Given the description of an element on the screen output the (x, y) to click on. 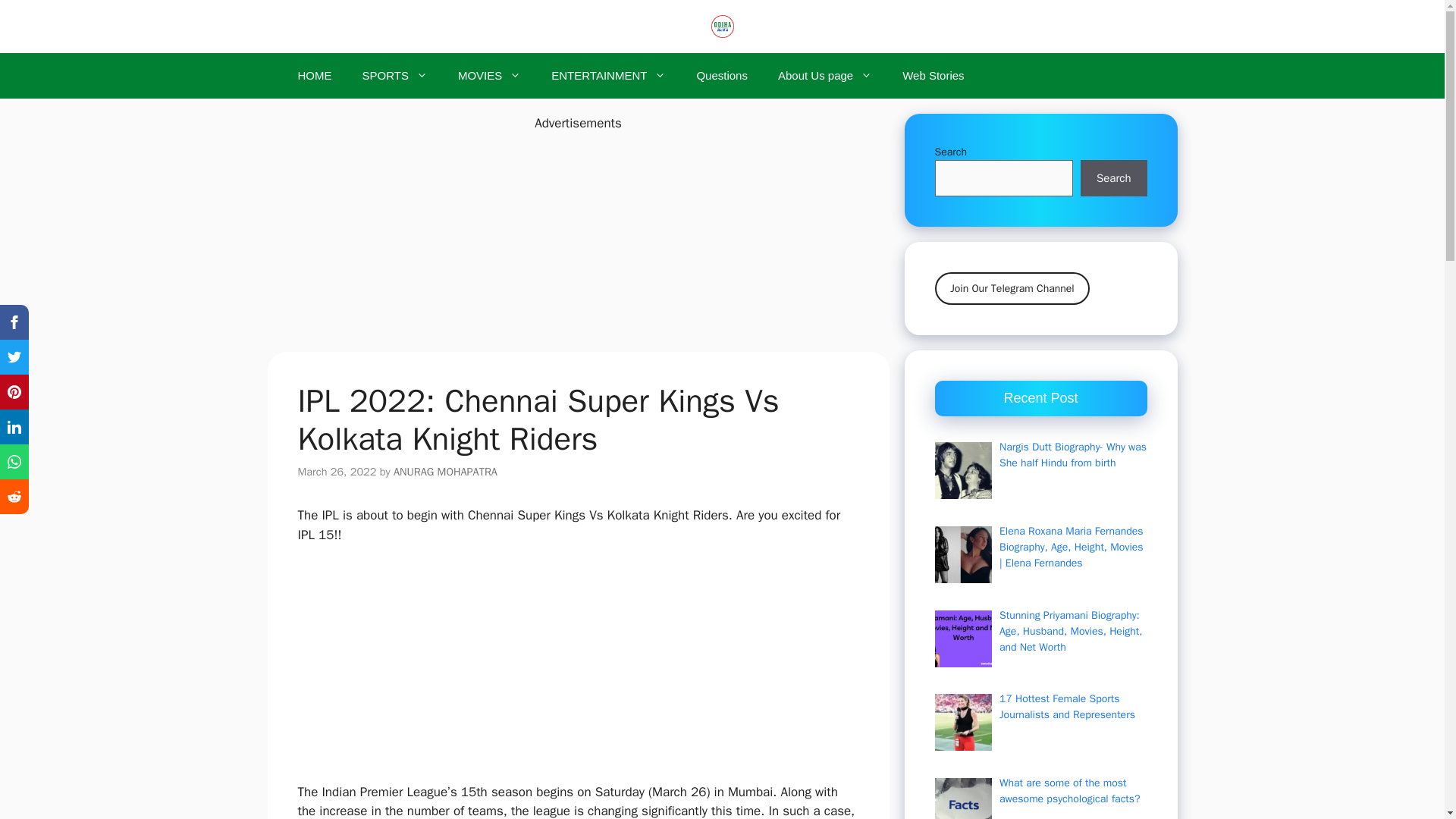
Questions (721, 75)
MOVIES (488, 75)
About Us page (824, 75)
Chennai Super Kings Vs Kolkata Knight Riders (962, 638)
Advertisement (577, 239)
ANURAG MOHAPATRA (445, 470)
Web Stories (932, 75)
HOME (314, 75)
SPORTS (394, 75)
Advertisement (585, 670)
